Given the description of an element on the screen output the (x, y) to click on. 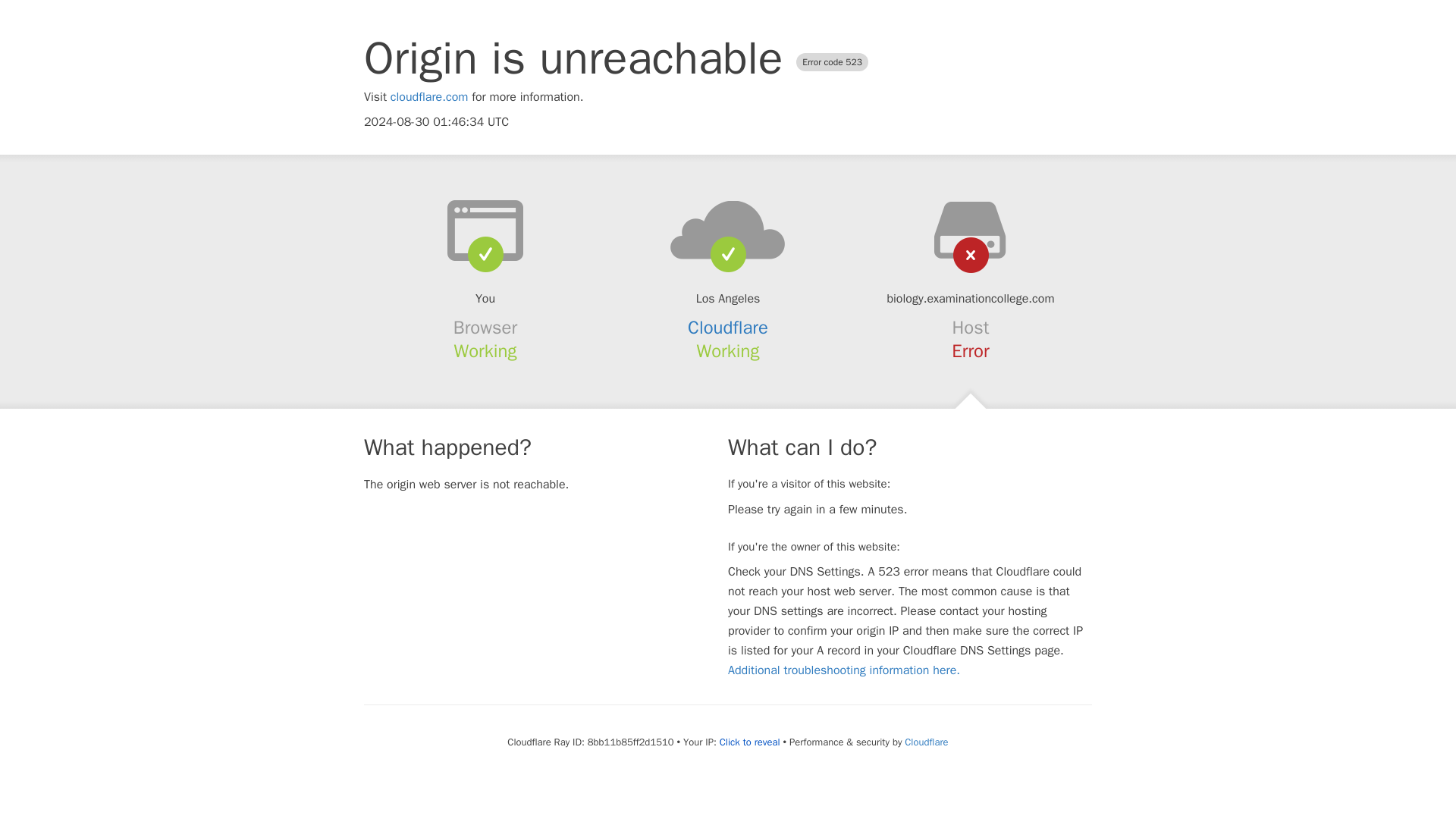
Click to reveal (749, 742)
Cloudflare (727, 327)
Cloudflare (925, 741)
cloudflare.com (429, 96)
Additional troubleshooting information here. (843, 670)
